Given the description of an element on the screen output the (x, y) to click on. 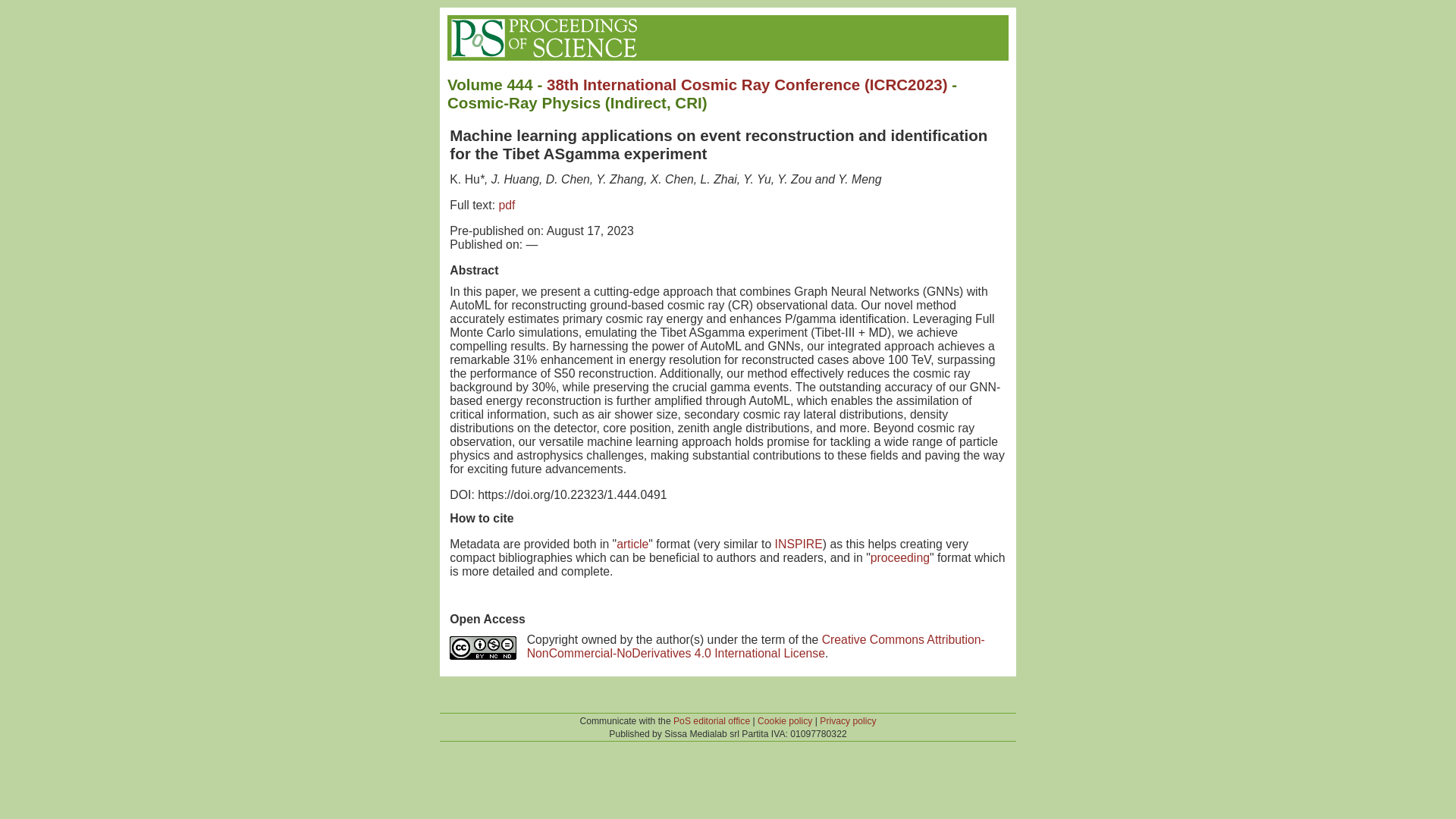
Corresponding author (464, 178)
Cookie policy (784, 720)
PoS editorial office (710, 720)
INSPIRE (798, 543)
proceeding (900, 557)
pdf (506, 205)
article (631, 543)
Privacy policy (847, 720)
Cookie policy (784, 720)
